Given the description of an element on the screen output the (x, y) to click on. 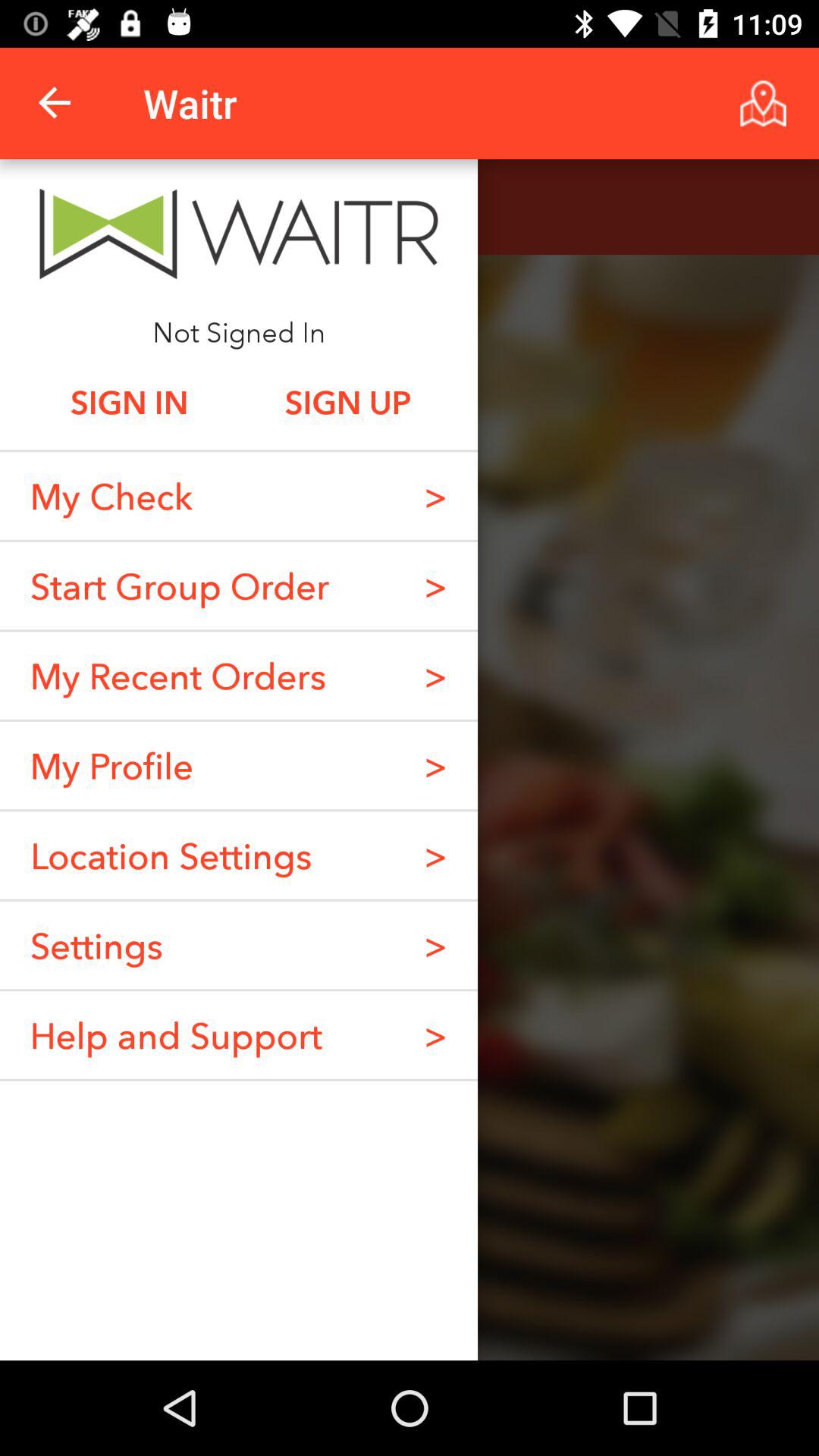
turn on the item below the sign up (435, 495)
